Given the description of an element on the screen output the (x, y) to click on. 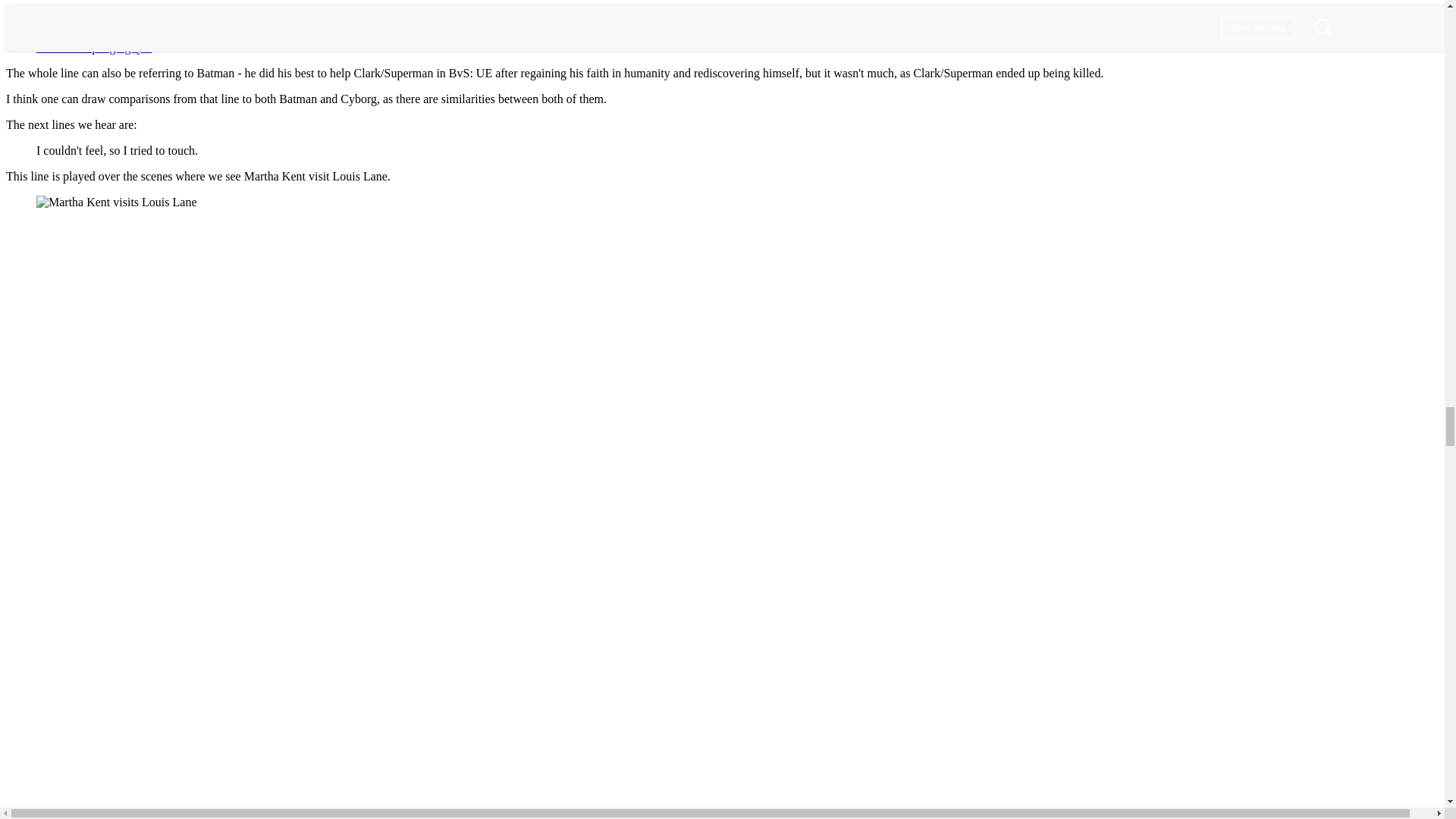
Batman atop a gargoyle (93, 47)
